Given the description of an element on the screen output the (x, y) to click on. 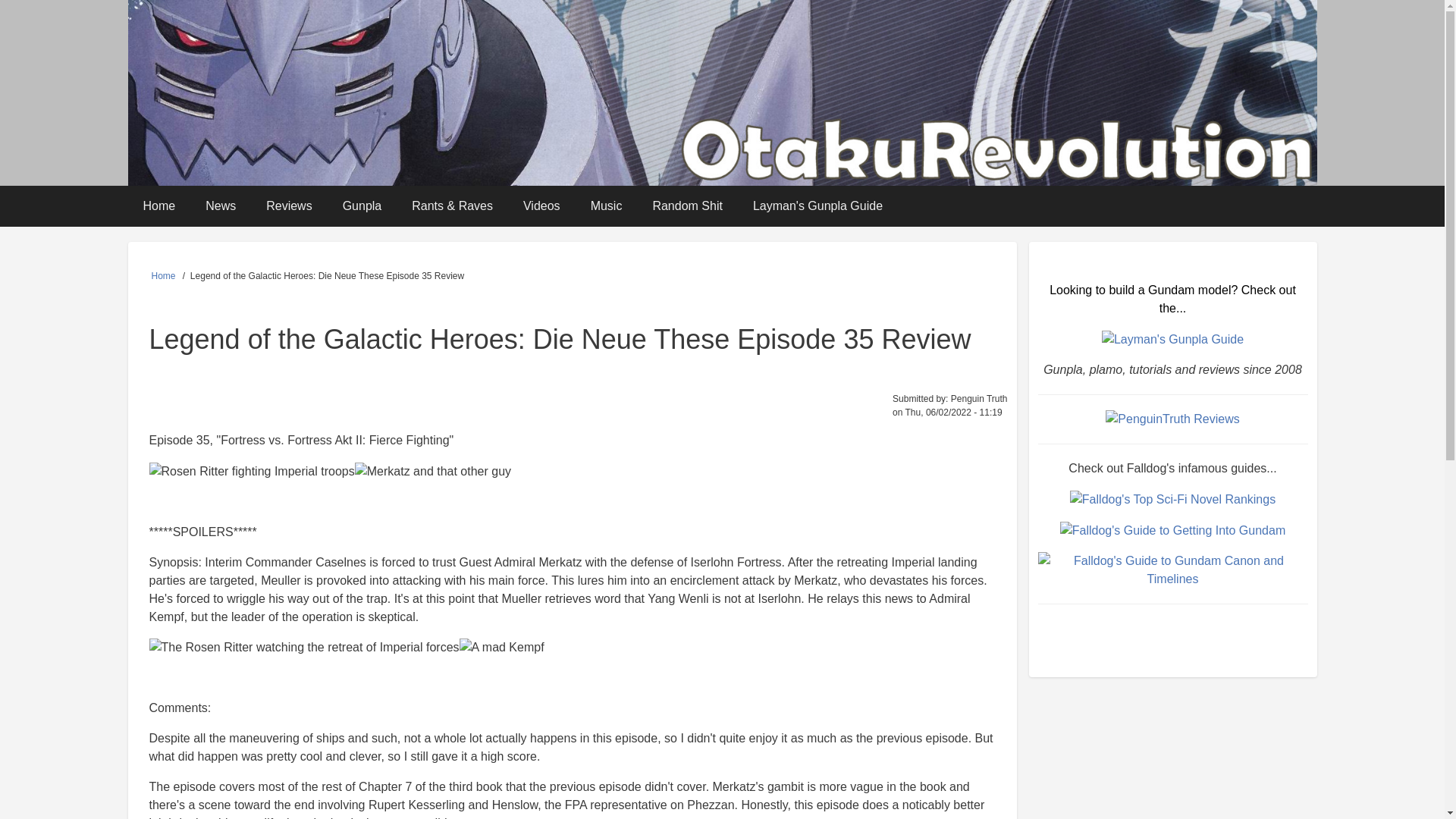
Reviews (288, 205)
Random Shit (687, 205)
Videos (541, 205)
Gunpla (362, 205)
Home (159, 205)
Home (163, 276)
News (220, 205)
Layman's Gunpla Guide (818, 205)
Music (606, 205)
